Given the description of an element on the screen output the (x, y) to click on. 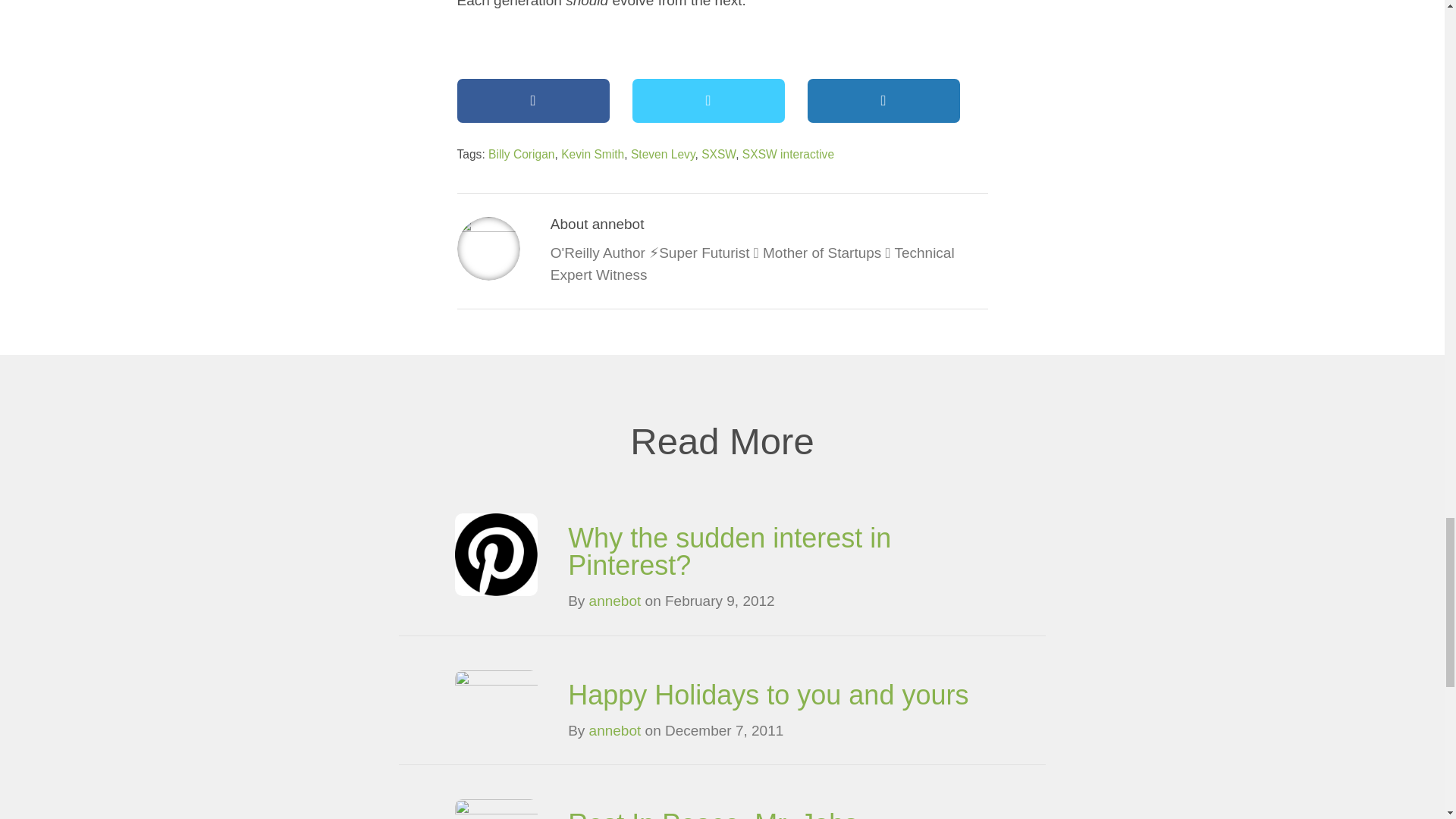
Why the sudden interest in Pinterest? (729, 551)
annebot (615, 730)
annebot (615, 600)
SXSW interactive (788, 154)
Billy Corigan (520, 154)
Kevin Smith (592, 154)
Steven Levy (662, 154)
SXSW (718, 154)
Rest In Peace, Mr. Jobs (712, 813)
Happy Holidays to you and yours (767, 694)
